Given the description of an element on the screen output the (x, y) to click on. 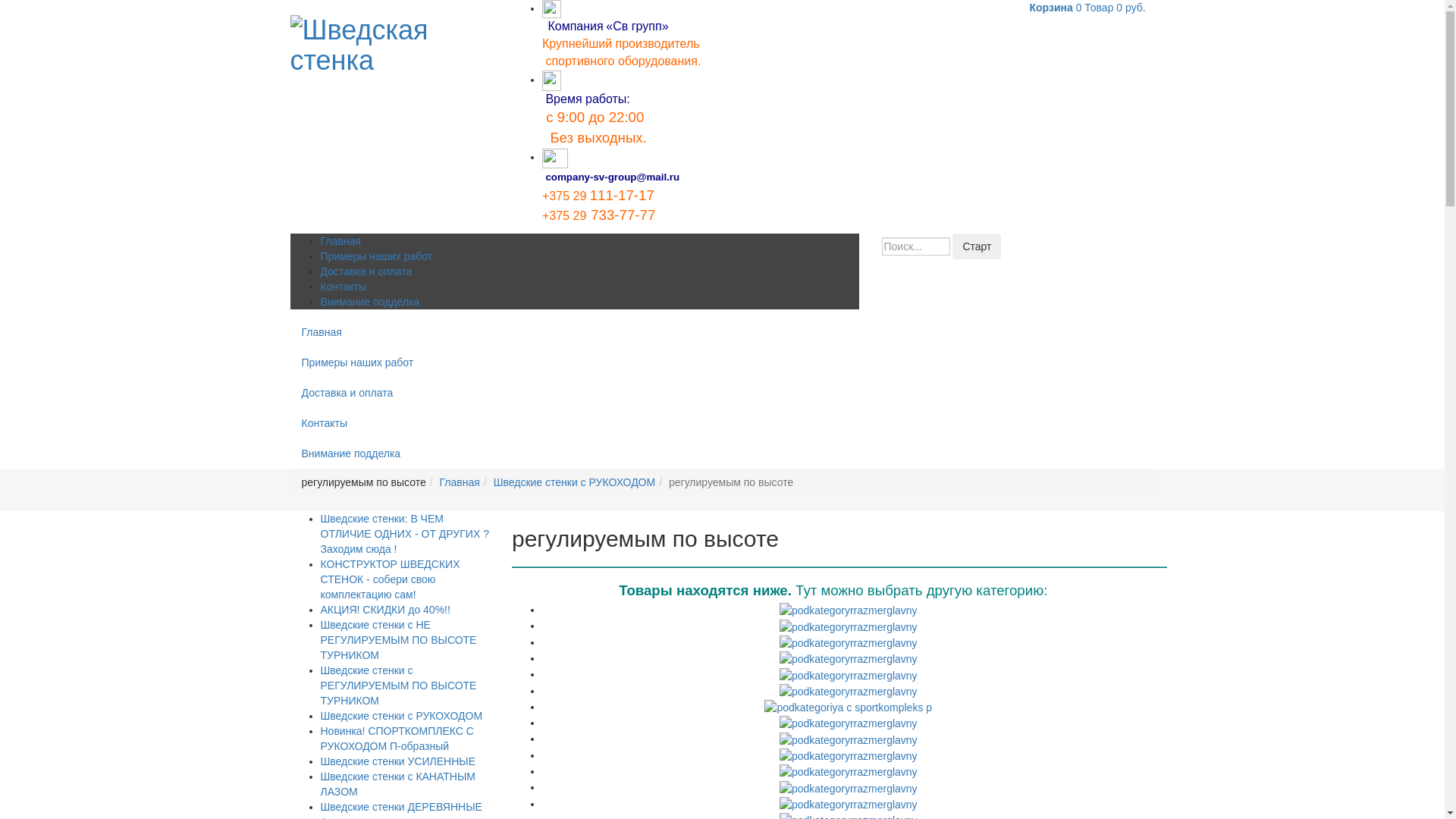
company-sv-group@mail.ru Element type: text (612, 176)
+375 29  733-77-77 Element type: text (598, 216)
+375 29 111-17-17 Element type: text (598, 196)
